Given the description of an element on the screen output the (x, y) to click on. 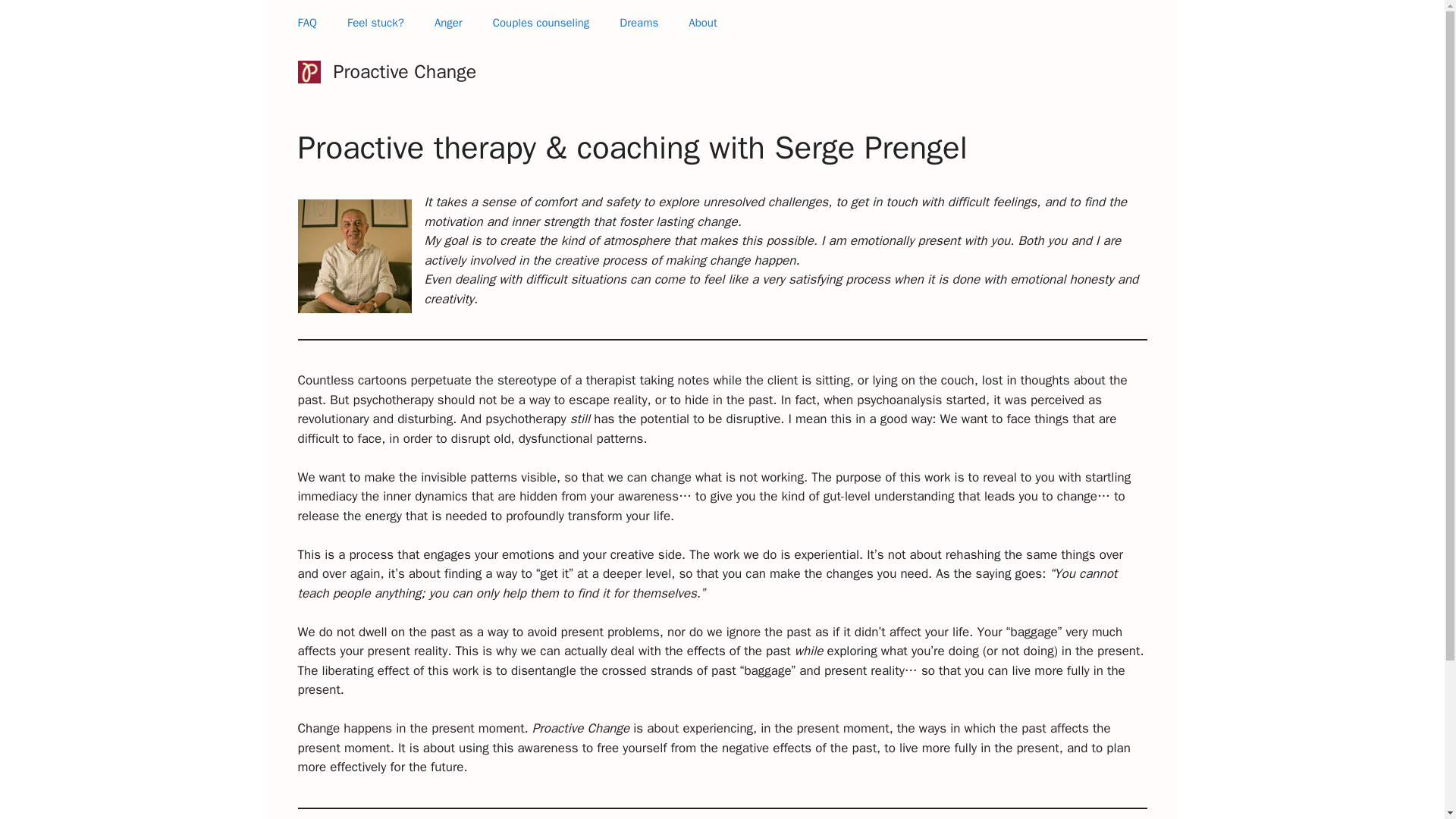
Dreams (638, 22)
Couples counseling (541, 22)
Proactive Change (405, 71)
Anger (448, 22)
About (702, 22)
FAQ (306, 22)
Feel stuck? (375, 22)
